Given the description of an element on the screen output the (x, y) to click on. 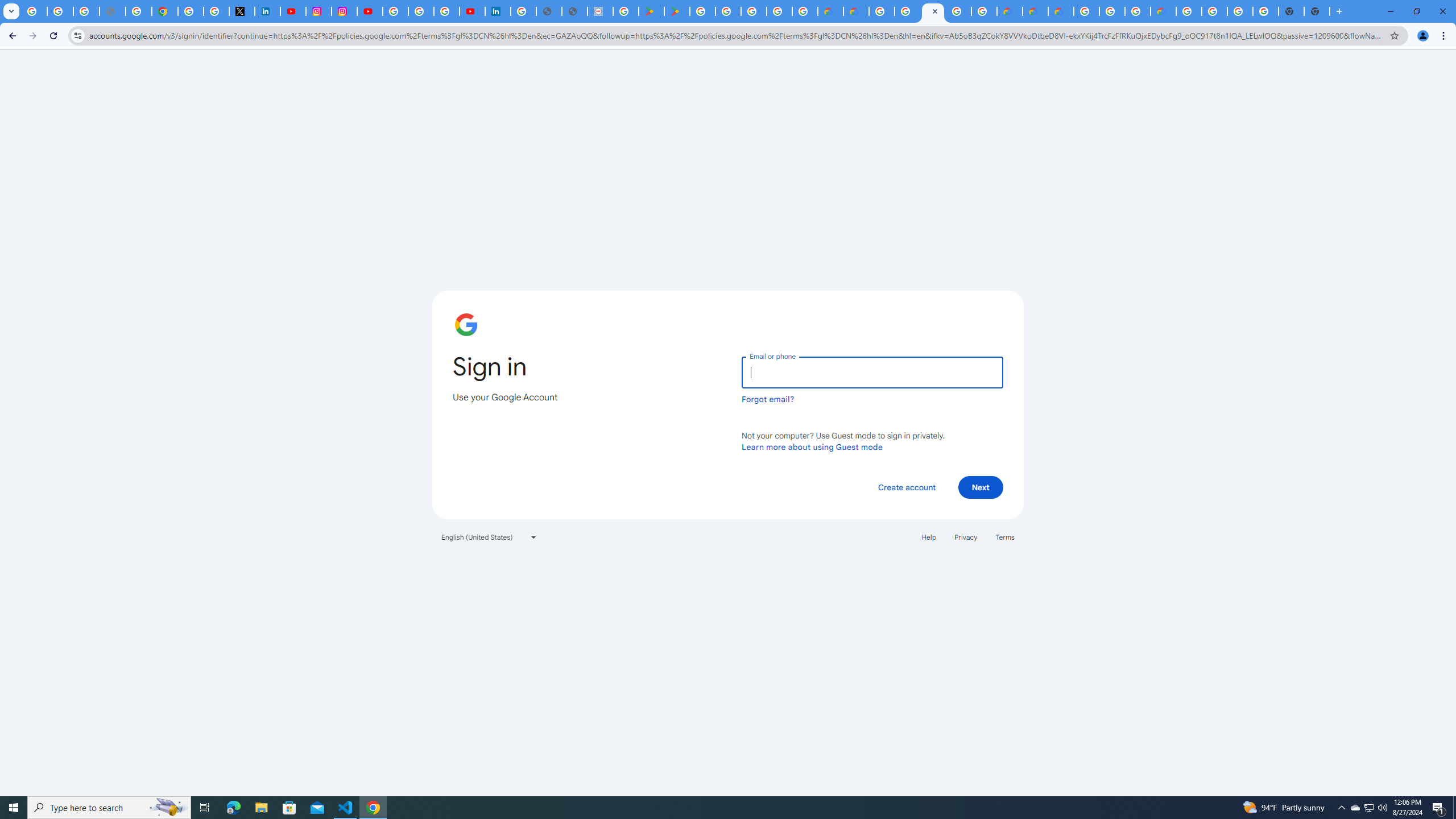
Google Cloud Platform (1086, 11)
